Given the description of an element on the screen output the (x, y) to click on. 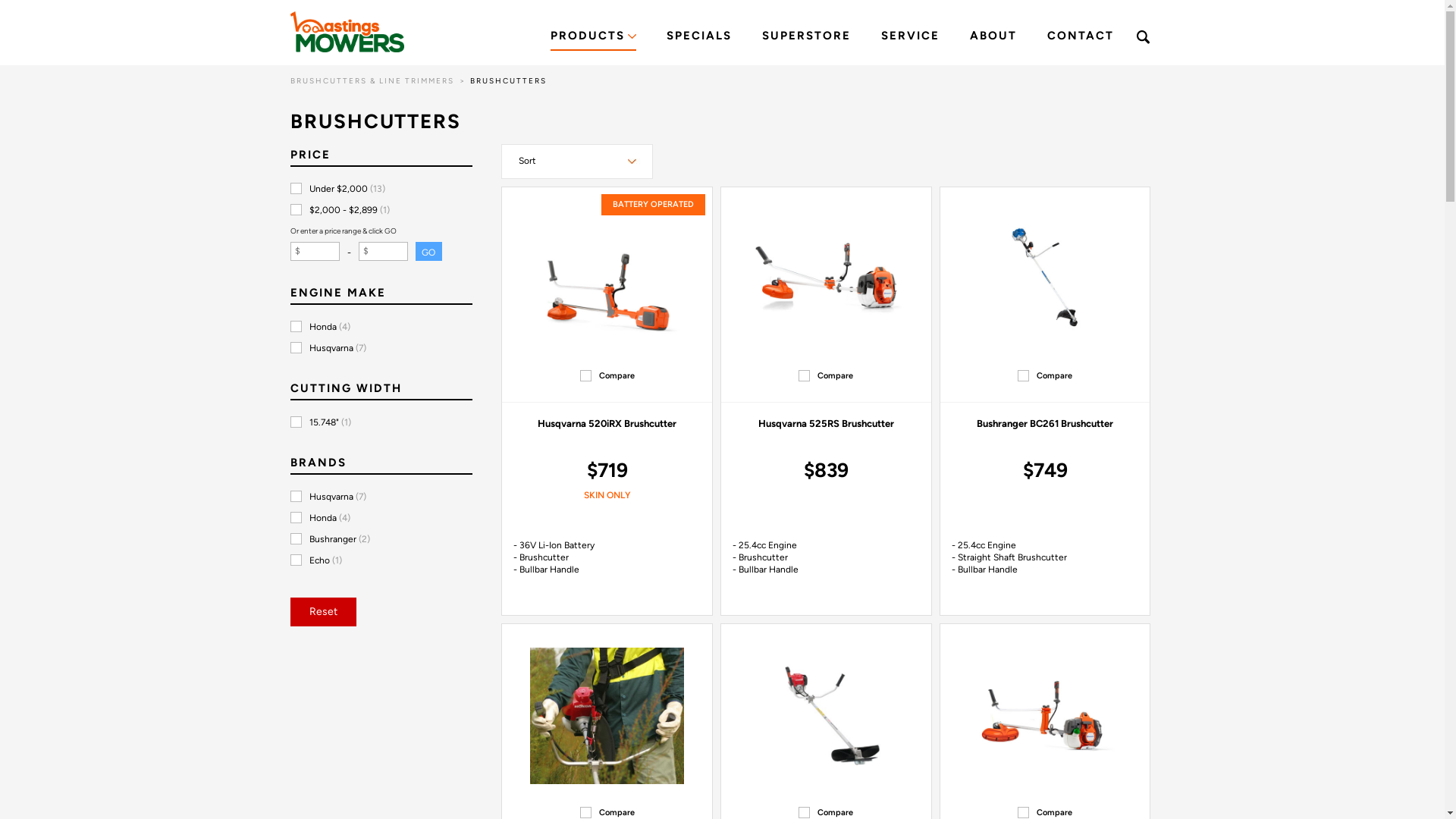
Reset Element type: text (322, 611)
BRUSHCUTTERS & LINE TRIMMERS Element type: text (371, 80)
GO Element type: text (428, 250)
SUPERSTORE Element type: text (805, 38)
PRODUCTS Element type: text (593, 38)
Hastings Mowers Element type: hover (346, 31)
SPECIALS Element type: text (698, 38)
ABOUT Element type: text (992, 38)
CONTACT Element type: text (1079, 38)
Husqvarna 525RS Brushcutter Element type: text (826, 423)
SERVICE Element type: text (910, 38)
Husqvarna 520iRX Brushcutter Element type: text (606, 423)
0-2000 Element type: text (4, 4)
Bushranger BC261 Brushcutter Element type: text (1044, 423)
